Given the description of an element on the screen output the (x, y) to click on. 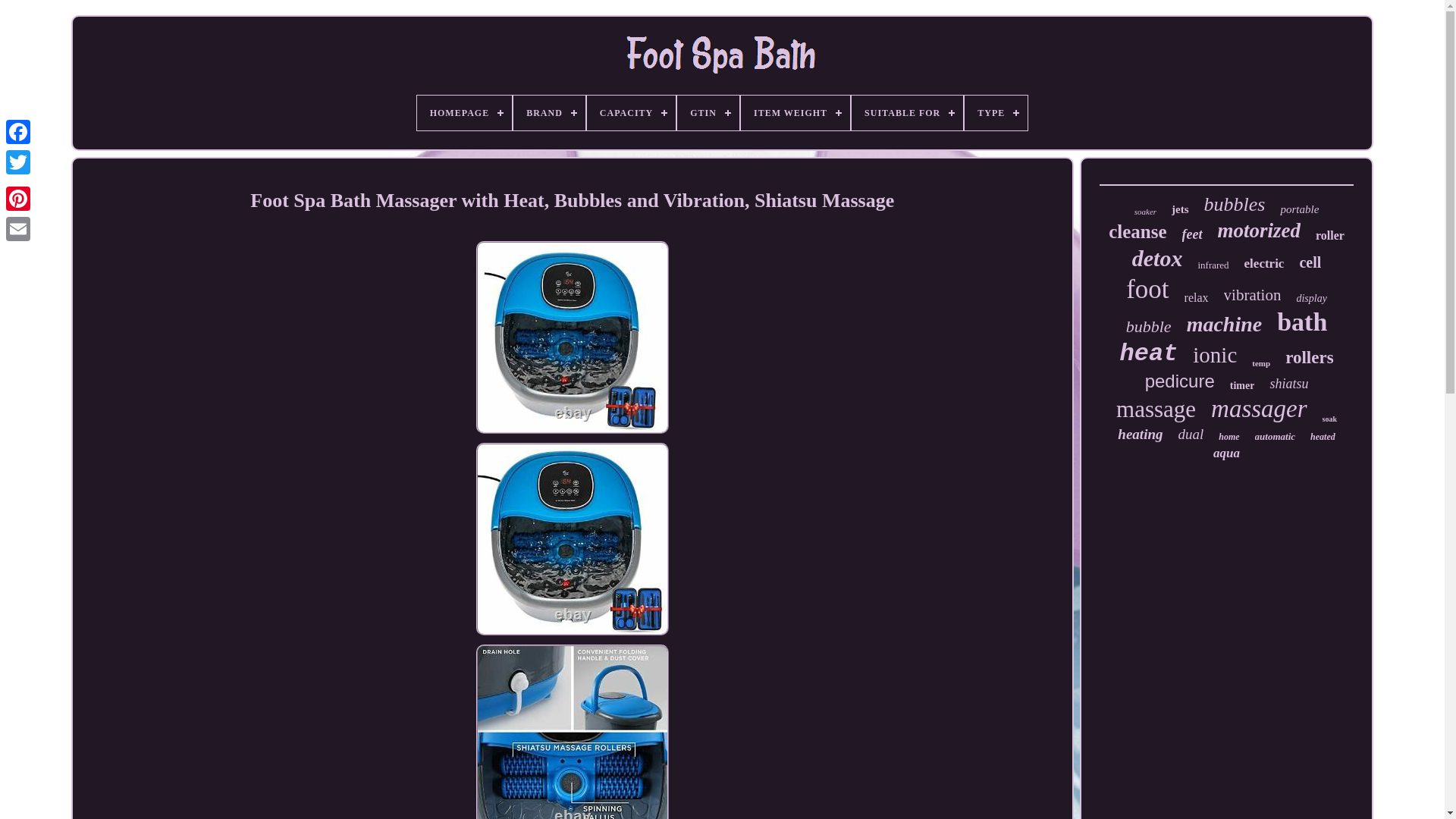
HOMEPAGE (464, 112)
BRAND (549, 112)
CAPACITY (630, 112)
